Given the description of an element on the screen output the (x, y) to click on. 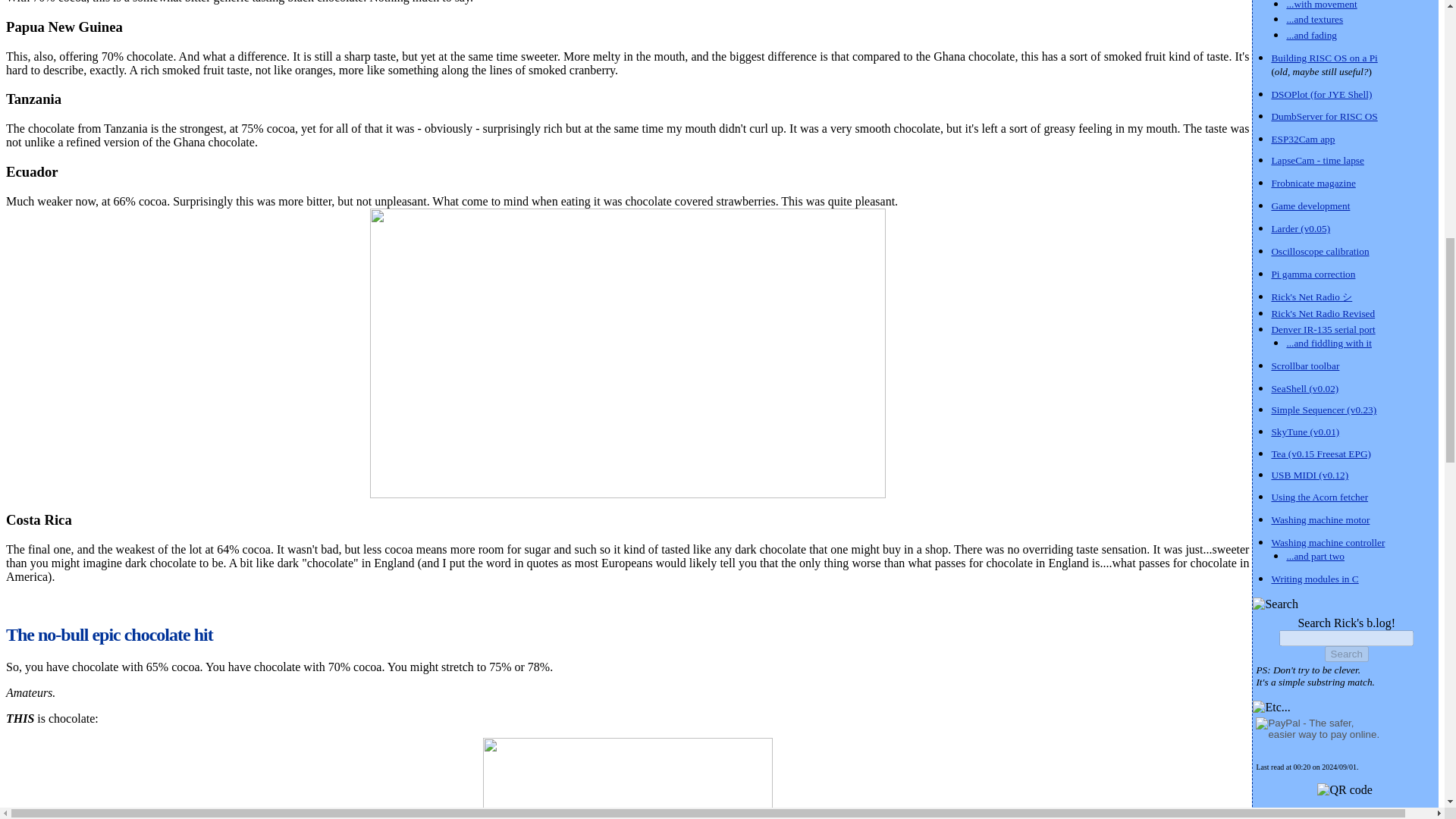
...with movement (1320, 4)
Search (1346, 653)
Etc... (1271, 707)
Search (1275, 603)
